Given the description of an element on the screen output the (x, y) to click on. 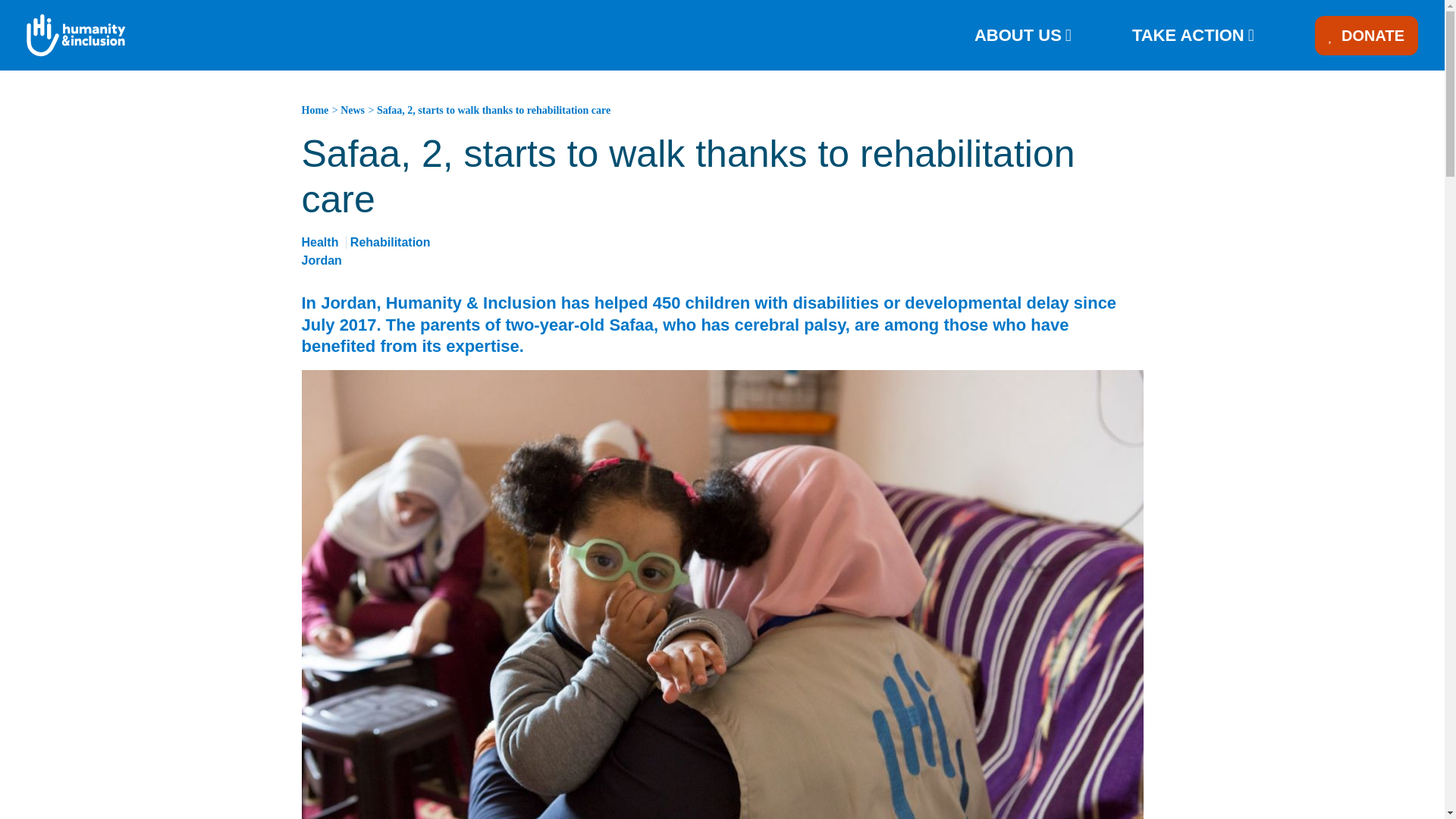
ABOUT US (1022, 35)
DONATE (1366, 35)
TAKE ACTION (1192, 35)
